Given the description of an element on the screen output the (x, y) to click on. 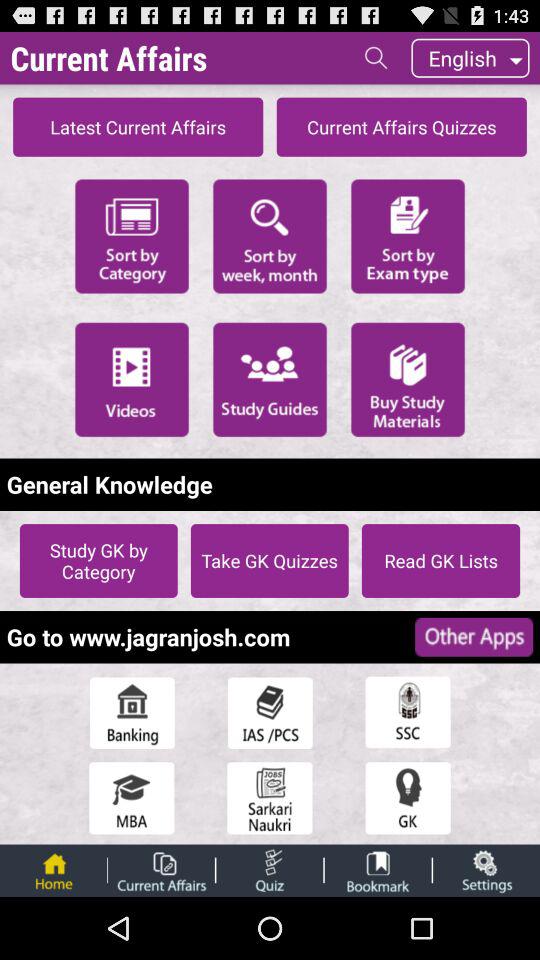
launch the icon below current affairs quizzes icon (407, 234)
